Given the description of an element on the screen output the (x, y) to click on. 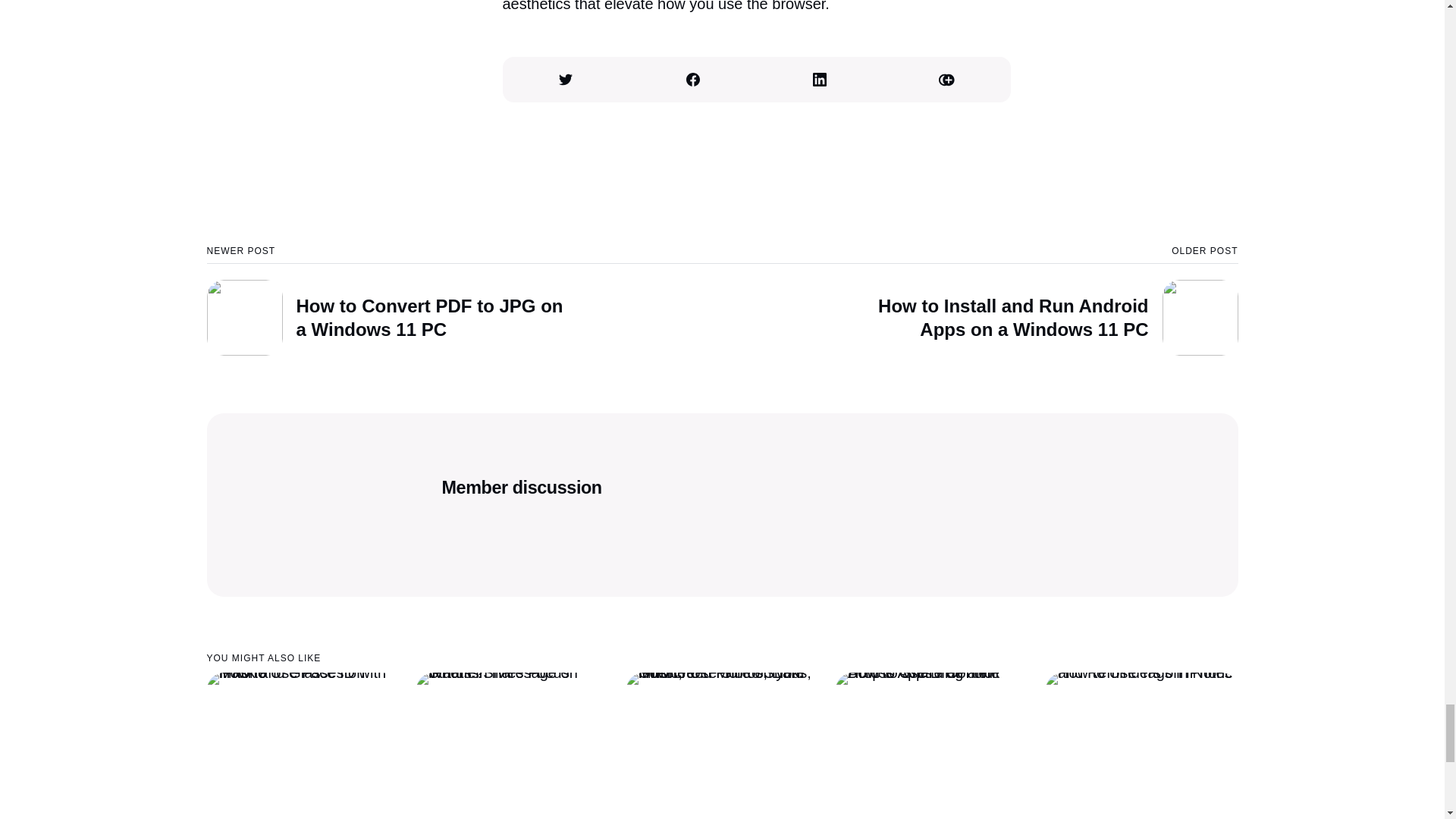
What is Share Focus Status in iMessage on iPhone? (464, 300)
